Given the description of an element on the screen output the (x, y) to click on. 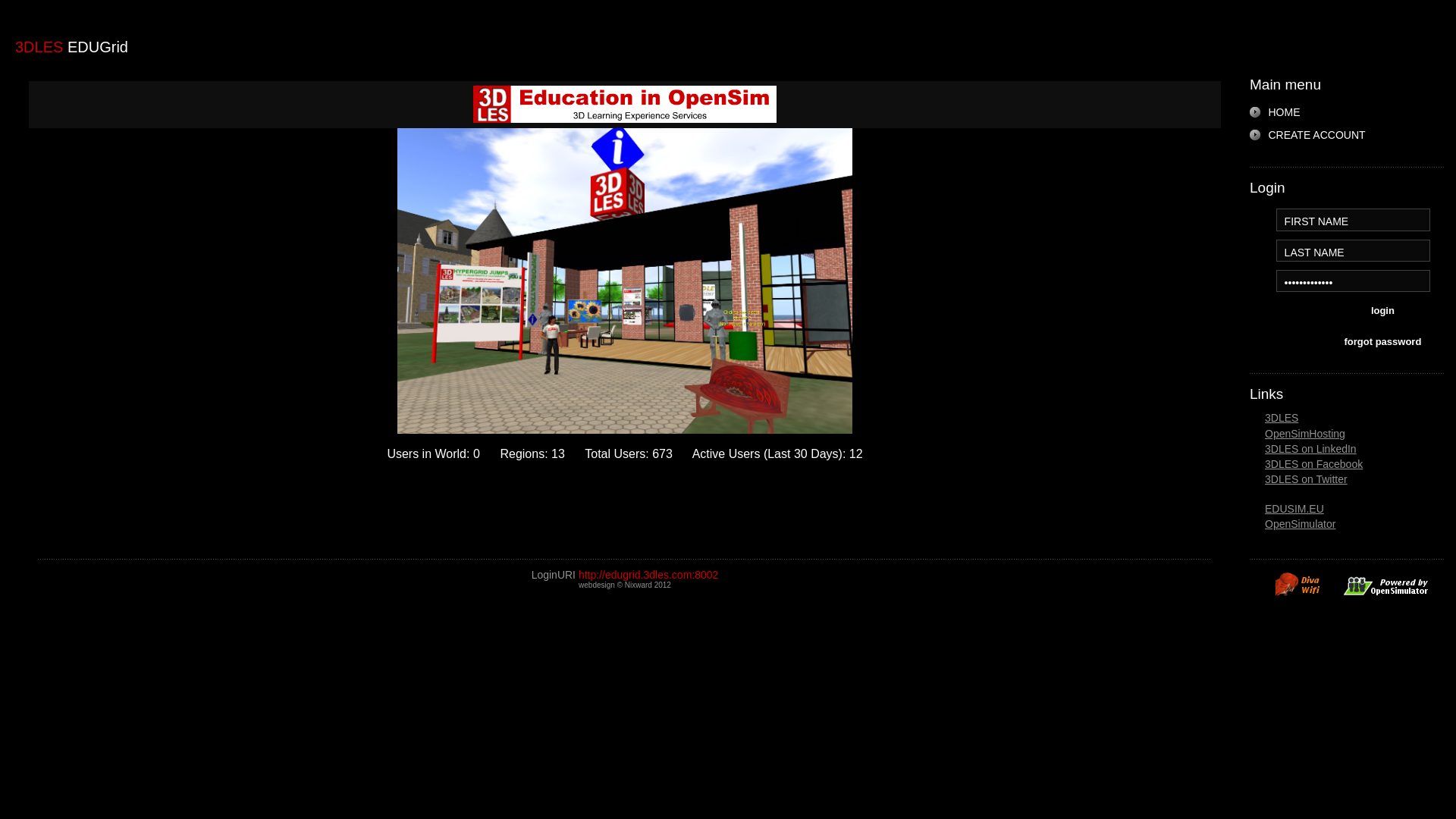
3DLES on Facebook Element type: text (1313, 464)
HOME Element type: text (1275, 112)
3DLES on LinkedIn Element type: text (1310, 448)
forgot password Element type: text (1382, 343)
EDUSIM.EU Element type: text (1294, 508)
login Element type: text (1382, 311)
3DLES Element type: text (1281, 417)
CREATE ACCOUNT Element type: text (1308, 134)
OpenSimulator Element type: text (1299, 523)
OpenSimHosting Element type: text (1304, 433)
3DLES on Twitter Element type: text (1305, 479)
